Given the description of an element on the screen output the (x, y) to click on. 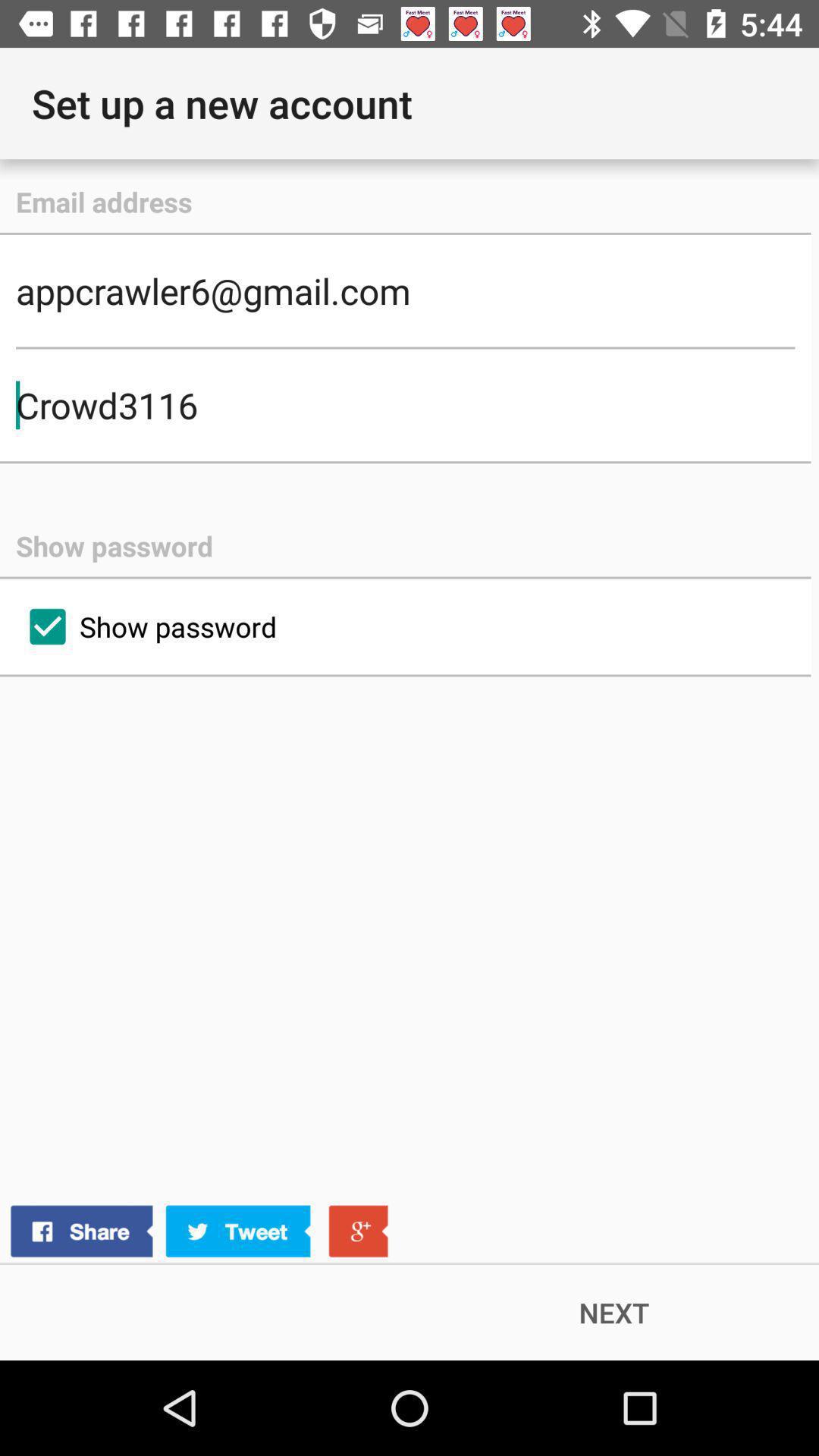
launch the icon at the bottom left corner (199, 1231)
